Given the description of an element on the screen output the (x, y) to click on. 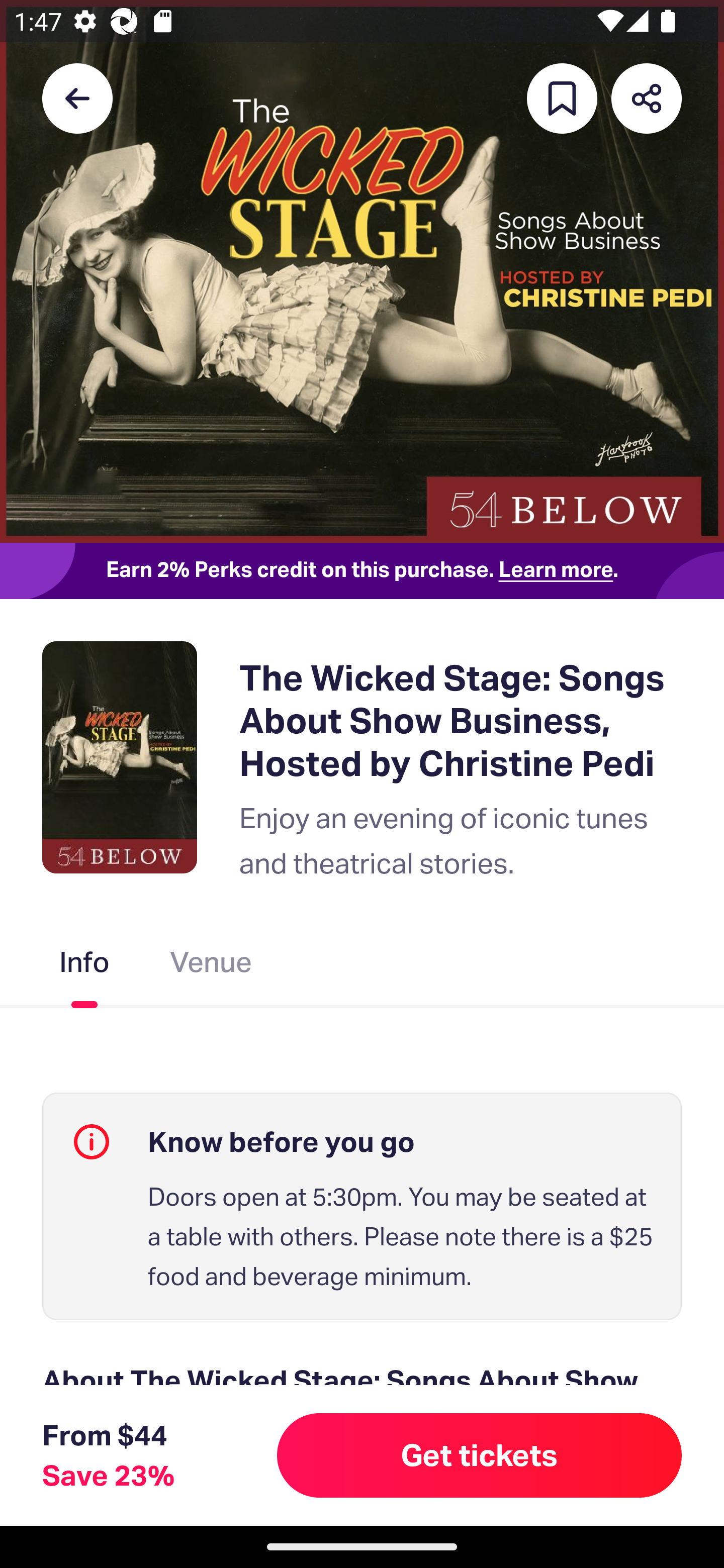
Earn 2% Perks credit on this purchase. Learn more. (362, 570)
Venue (210, 965)
Get tickets (479, 1454)
